Given the description of an element on the screen output the (x, y) to click on. 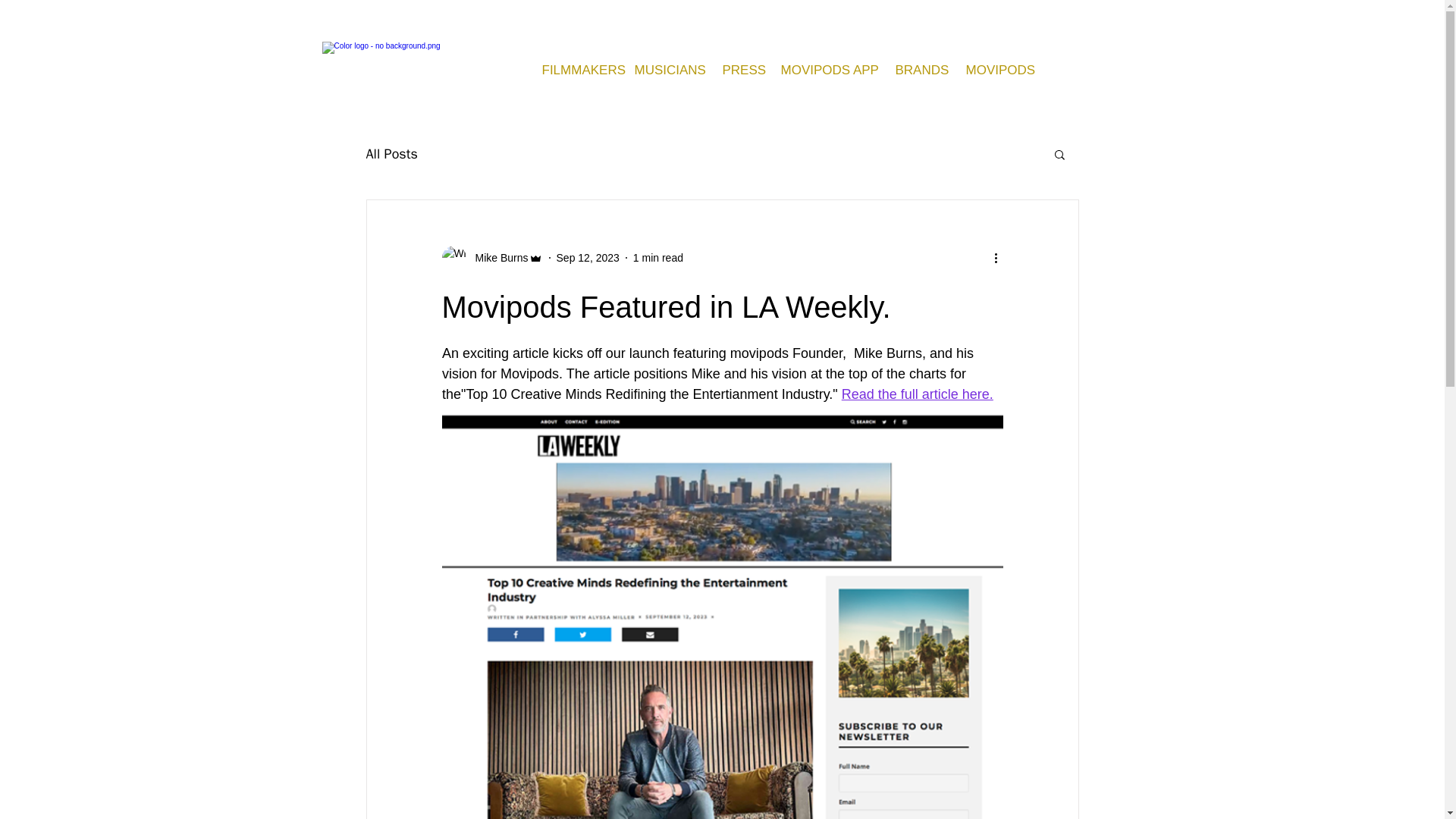
Read the full article here. (916, 394)
MOVIPODS (997, 70)
PRESS (740, 70)
FILMMAKERS (577, 70)
1 min read (657, 257)
BRANDS (919, 70)
Mike Burns (491, 257)
Sep 12, 2023 (588, 257)
MOVIPODS APP (825, 70)
MUSICIANS (667, 70)
